Given the description of an element on the screen output the (x, y) to click on. 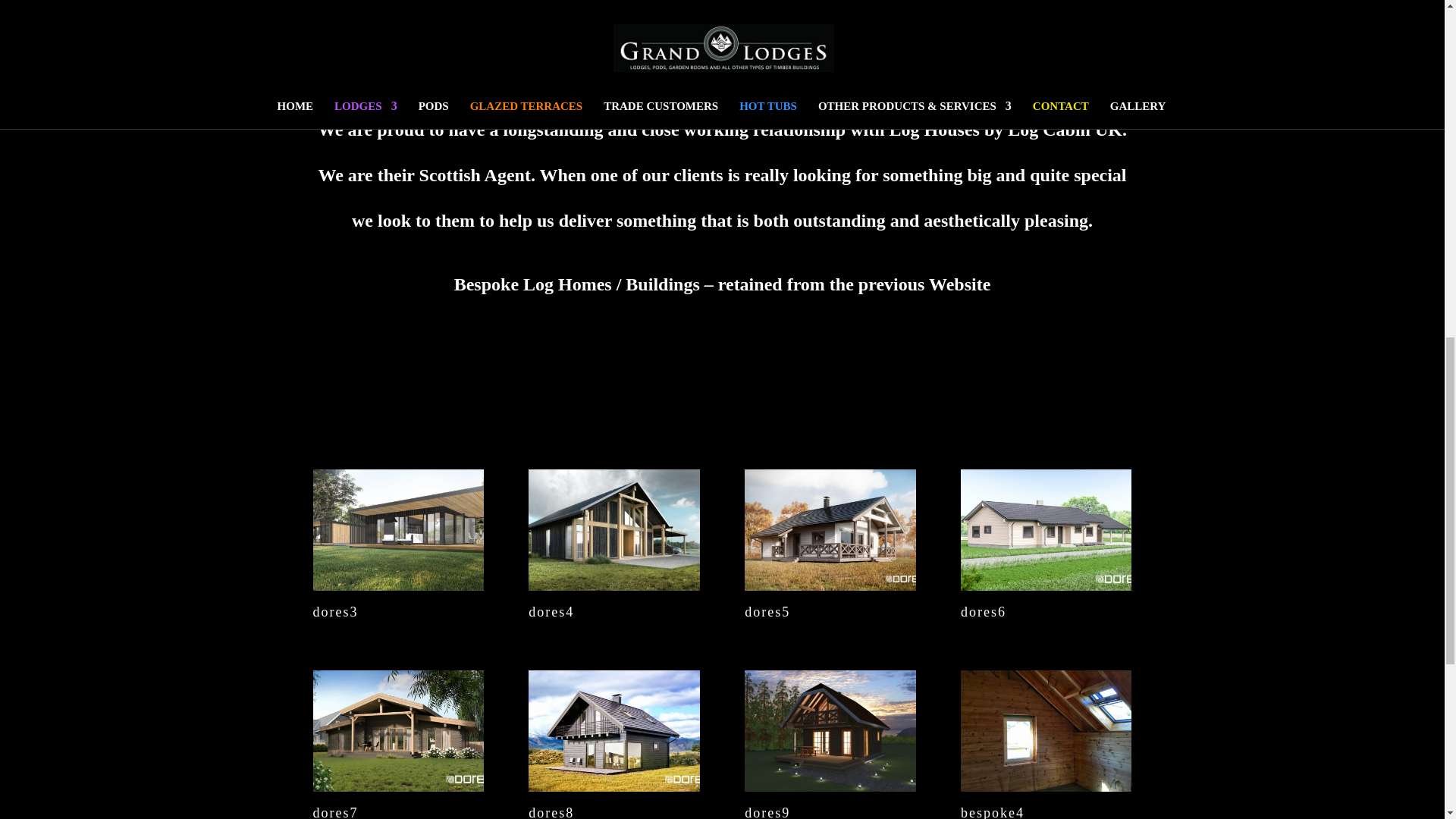
dores6 (1045, 584)
dores8 (613, 785)
dores4 (613, 584)
dores9 (829, 785)
dores5 (829, 584)
dores3 (398, 584)
bespoke4 (1045, 785)
dores7 (398, 785)
